Given the description of an element on the screen output the (x, y) to click on. 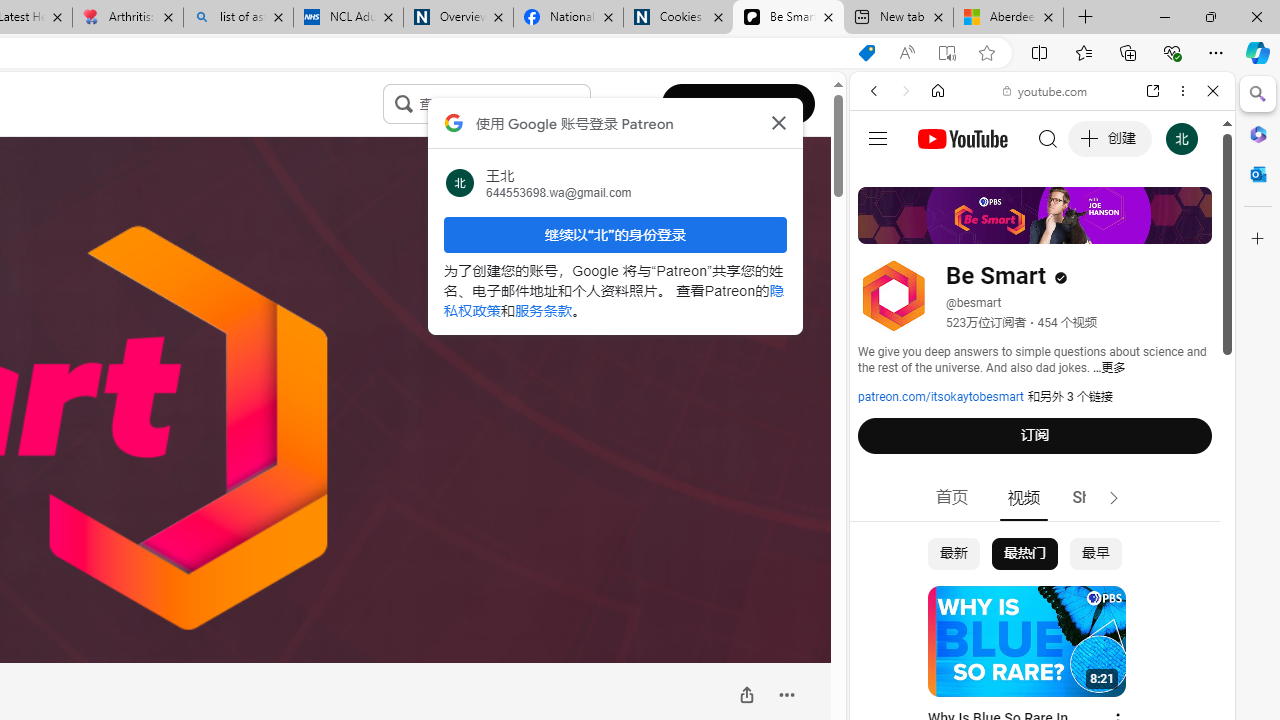
Arthritis: Ask Health Professionals (128, 17)
Class: sc-jrQzAO inFiZu (403, 103)
Search videos from youtube.com (1005, 657)
Web scope (882, 180)
Shorts (1096, 497)
#you (1042, 445)
NCL Adult Asthma Inhaler Choice Guideline (348, 17)
